Given the description of an element on the screen output the (x, y) to click on. 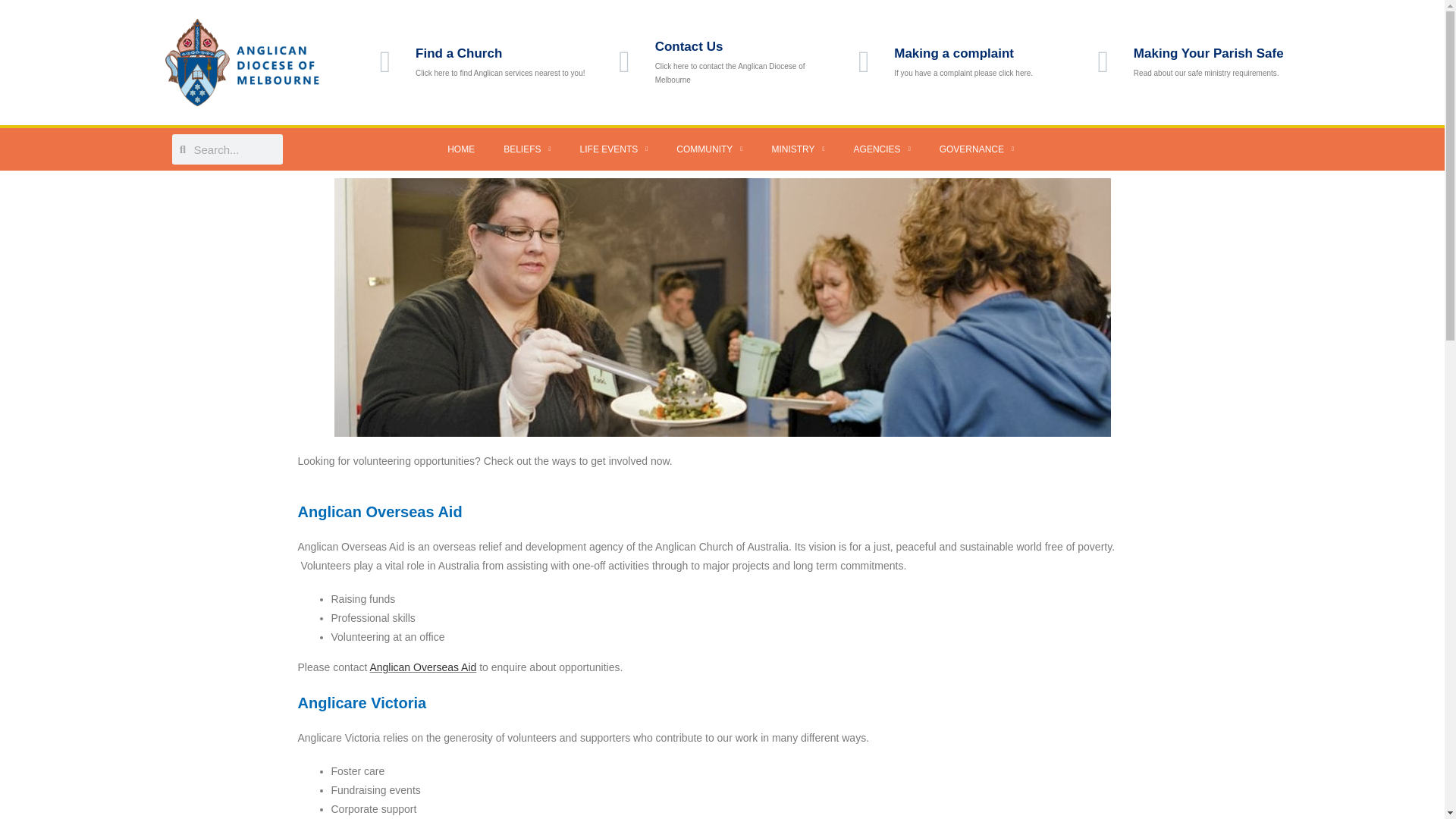
BELIEFS (526, 148)
COMMUNITY (709, 148)
MINISTRY (797, 148)
Making a complaint (953, 52)
Find a Church (458, 52)
HOME (460, 148)
Making Your Parish Safe (1209, 52)
LIFE EVENTS (614, 148)
Contact Us (689, 46)
